Given the description of an element on the screen output the (x, y) to click on. 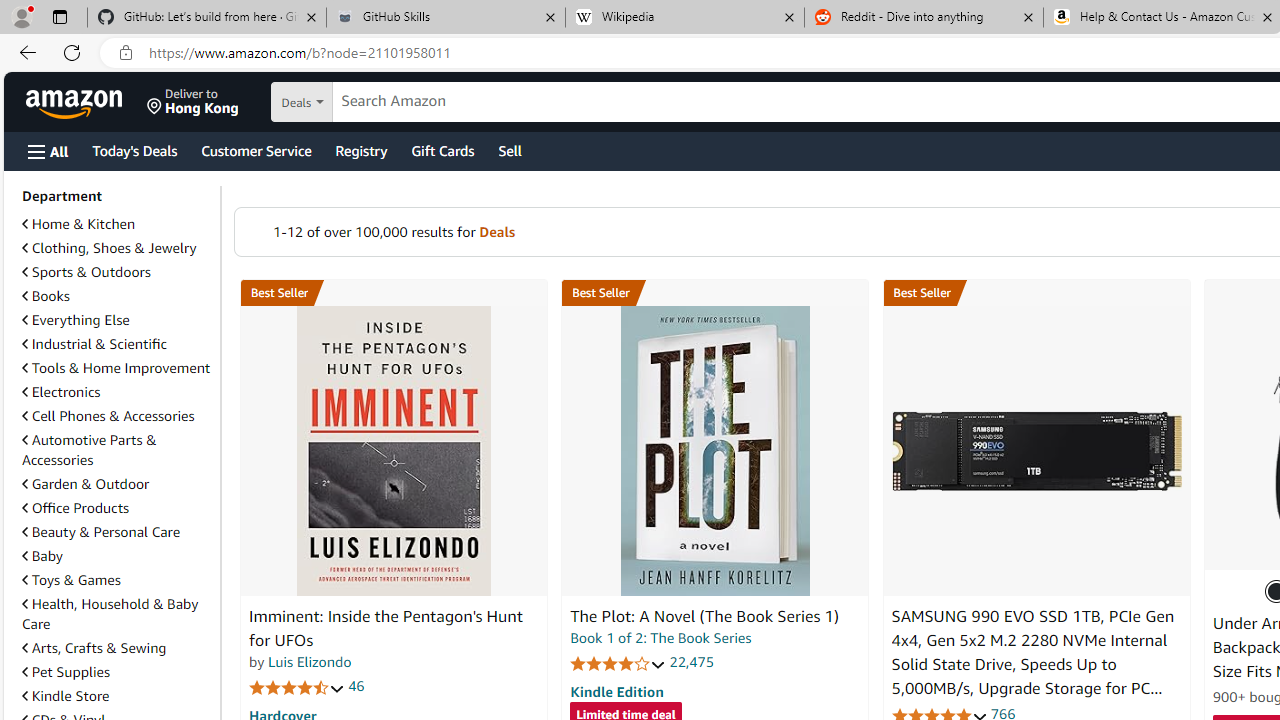
Baby (117, 555)
Gift Cards (442, 150)
Garden & Outdoor (85, 484)
Beauty & Personal Care (100, 531)
Best Seller in Internal Solid State Drives (1036, 293)
Clothing, Shoes & Jewelry (109, 248)
Garden & Outdoor (117, 483)
Books (45, 296)
Office Products (117, 507)
Tools & Home Improvement (116, 368)
Electronics (117, 391)
Beauty & Personal Care (117, 532)
Best Seller in Heist Thrillers (715, 293)
Toys & Games (117, 579)
Office Products (75, 507)
